Given the description of an element on the screen output the (x, y) to click on. 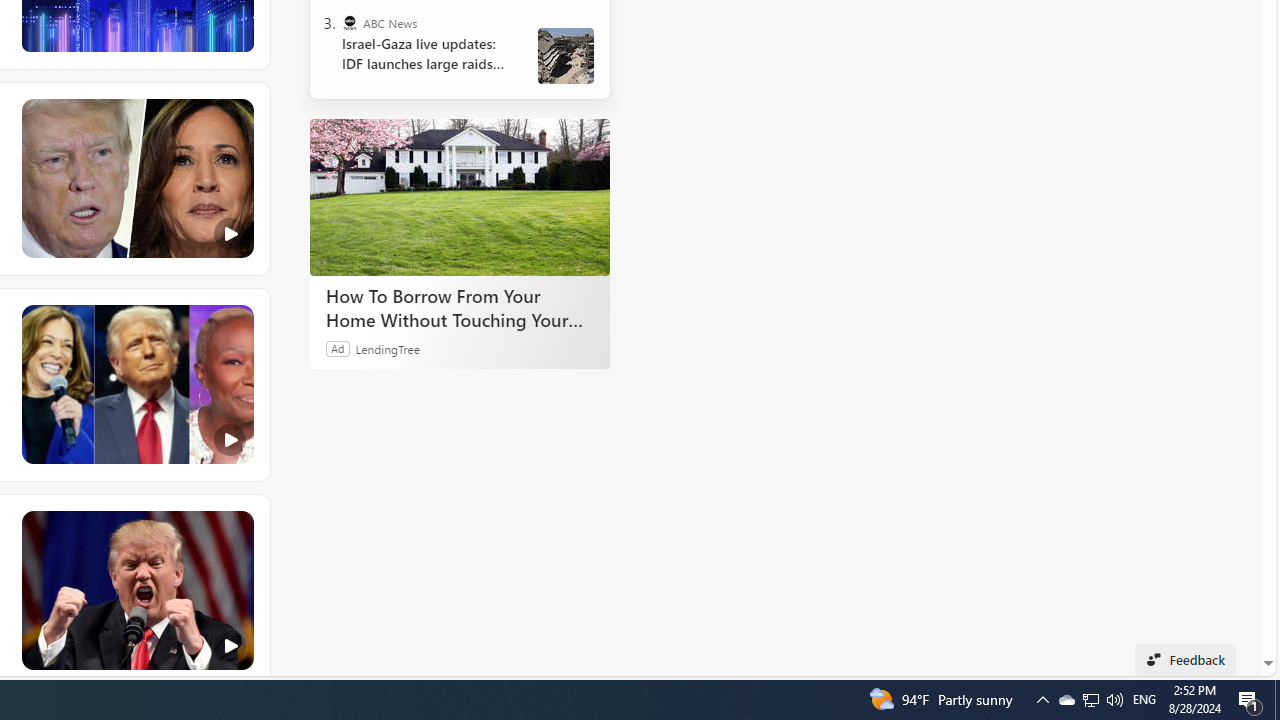
How To Borrow From Your Home Without Touching Your Mortgage (459, 196)
LendingTree (387, 348)
Class: hero-image (136, 591)
How To Borrow From Your Home Without Touching Your Mortgage (459, 307)
ABC News (349, 22)
